Given the description of an element on the screen output the (x, y) to click on. 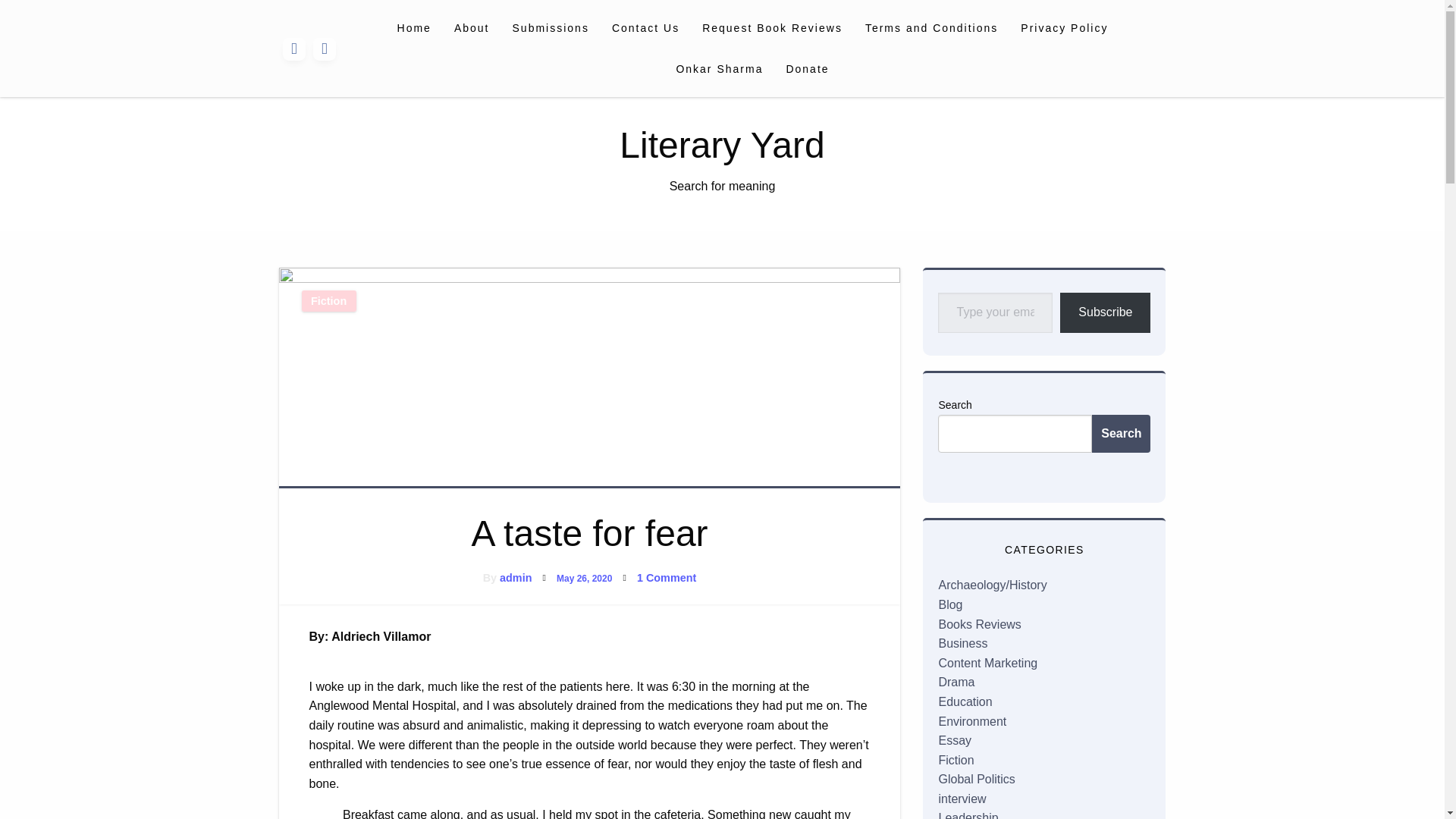
Submissions (549, 27)
Terms and Conditions (931, 27)
admin (515, 577)
Privacy Policy (1064, 27)
Request Book Reviews (771, 27)
Please fill in this field. (994, 312)
Fiction (328, 301)
Home (413, 27)
Onkar Sharma (718, 68)
May 26, 2020 (583, 578)
